Given the description of an element on the screen output the (x, y) to click on. 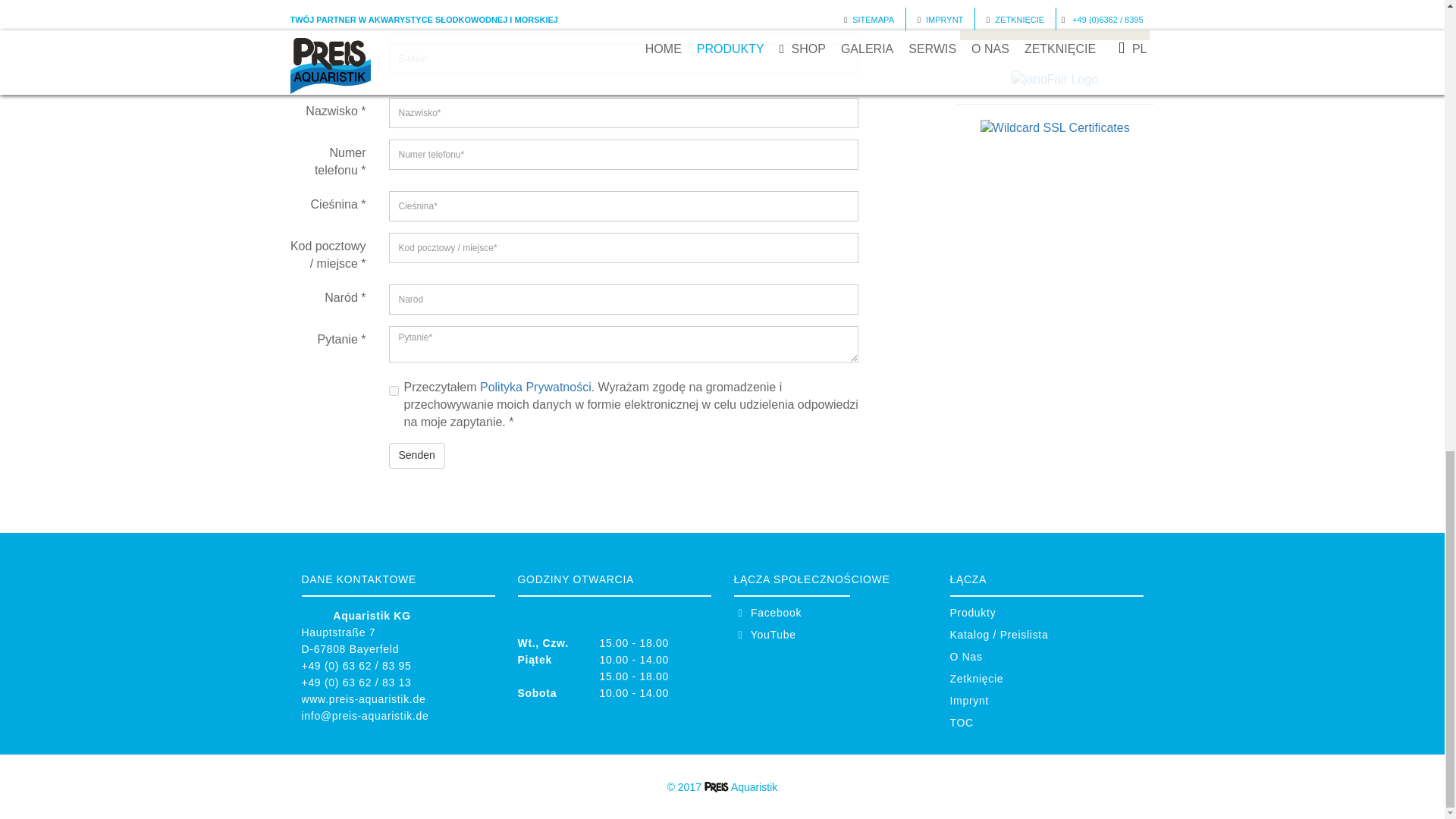
1 (392, 390)
Preis Mineralien (623, 17)
Senden (416, 455)
